Given the description of an element on the screen output the (x, y) to click on. 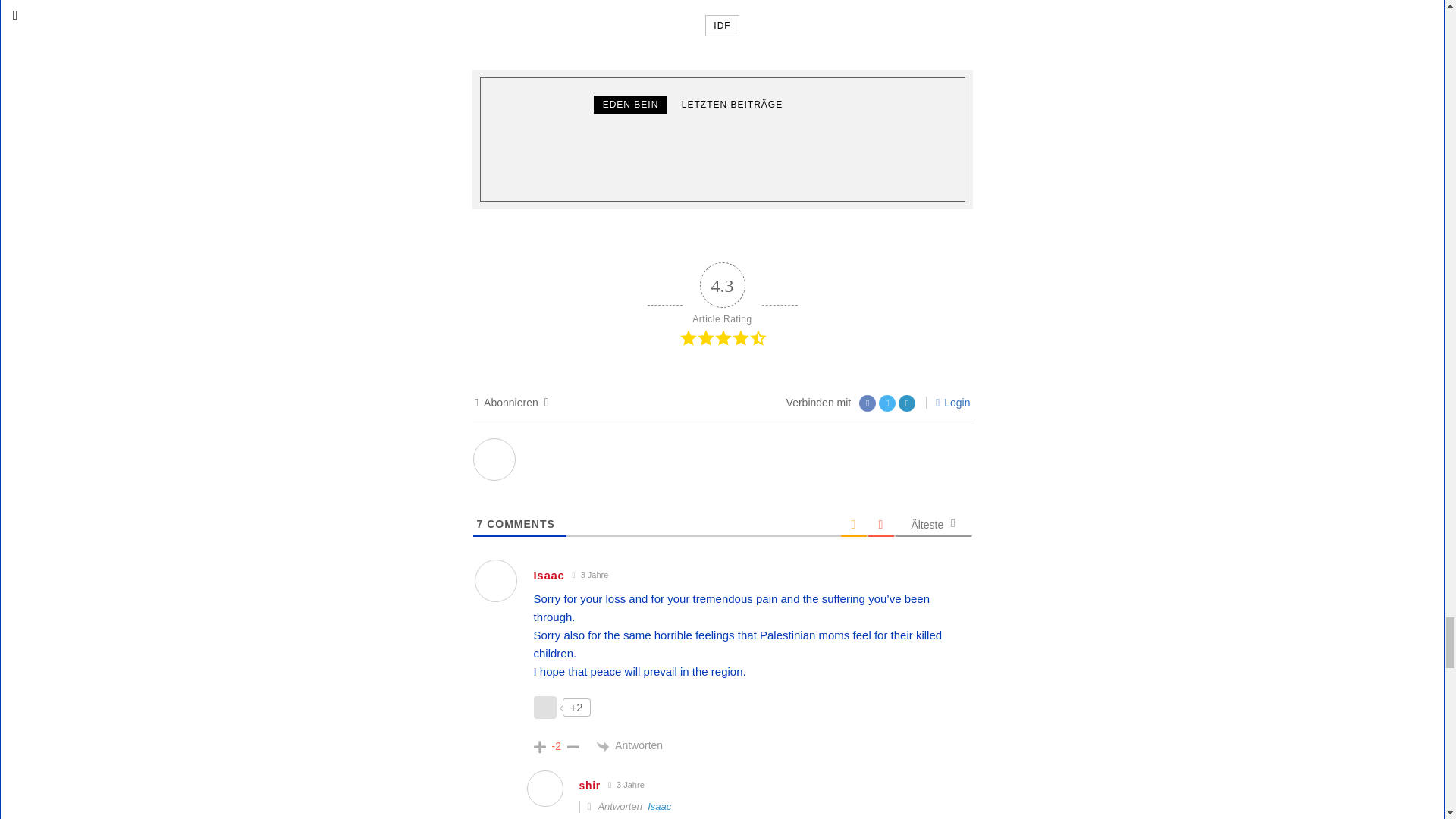
IDF (721, 25)
EDEN BEIN (631, 104)
Login (952, 402)
